Given the description of an element on the screen output the (x, y) to click on. 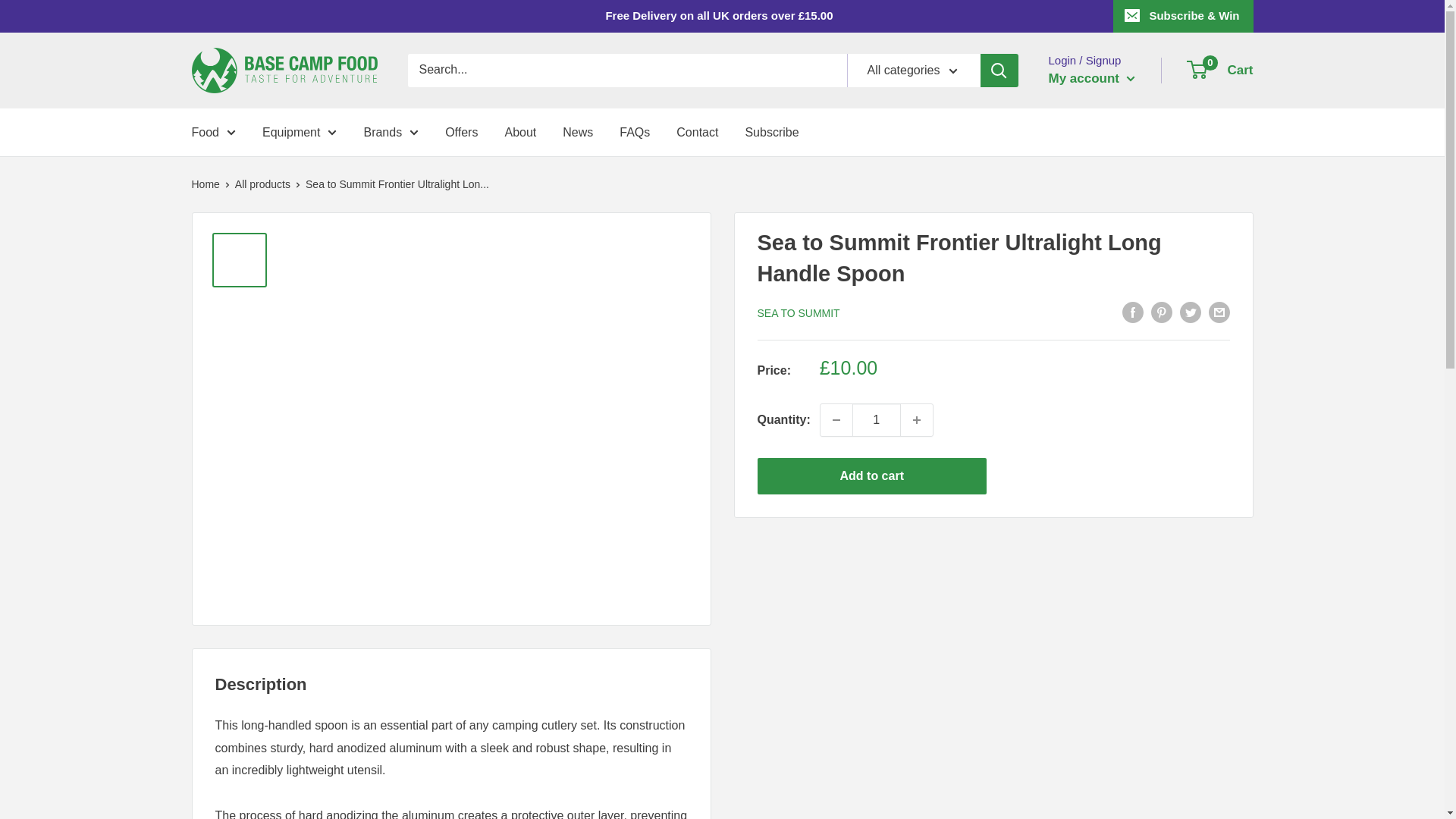
1 (876, 419)
Increase quantity by 1 (917, 419)
Decrease quantity by 1 (836, 419)
